Given the description of an element on the screen output the (x, y) to click on. 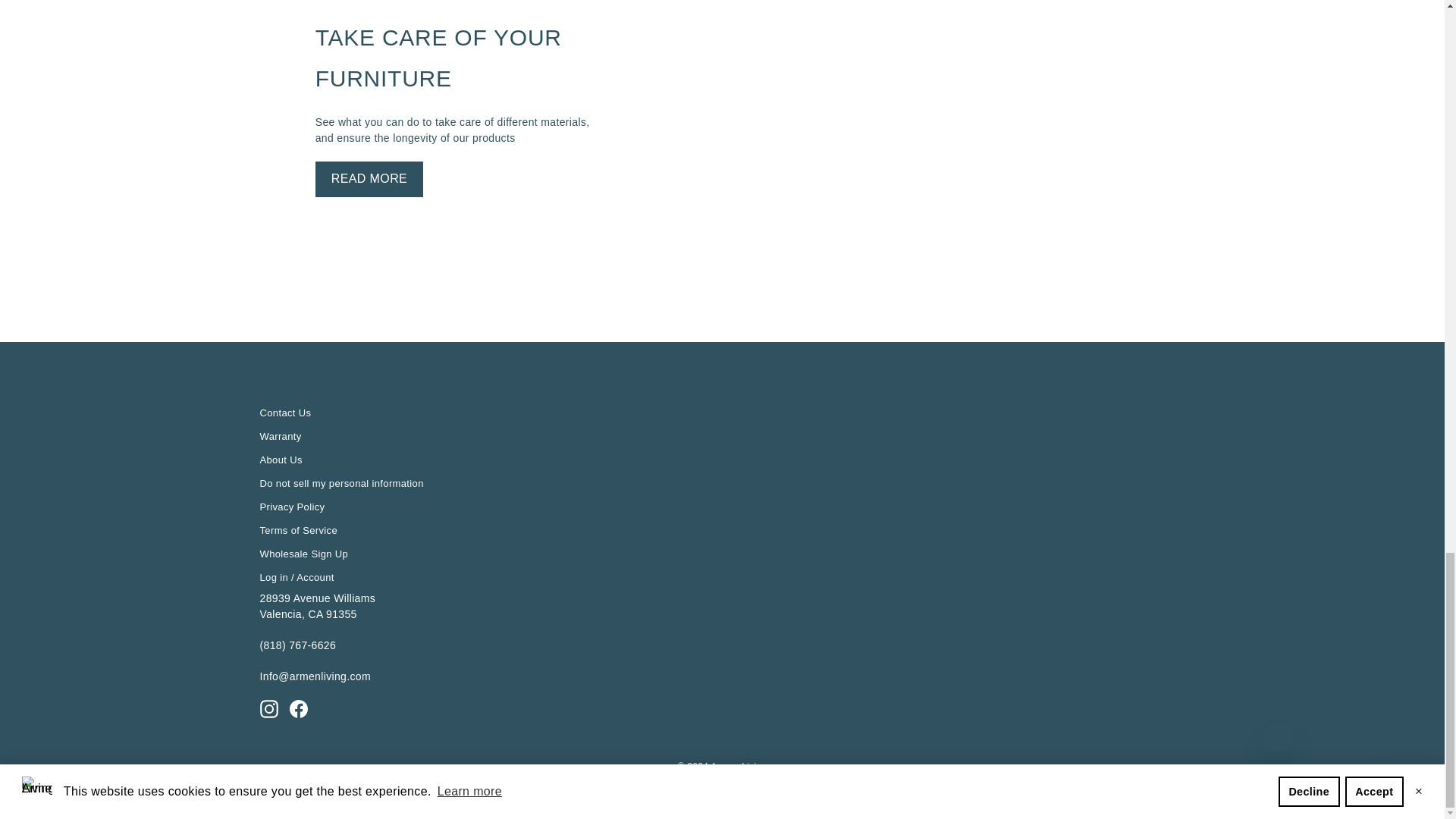
Armen Living on Facebook (298, 709)
Armen Living on Instagram (268, 709)
instagram (268, 709)
